Given the description of an element on the screen output the (x, y) to click on. 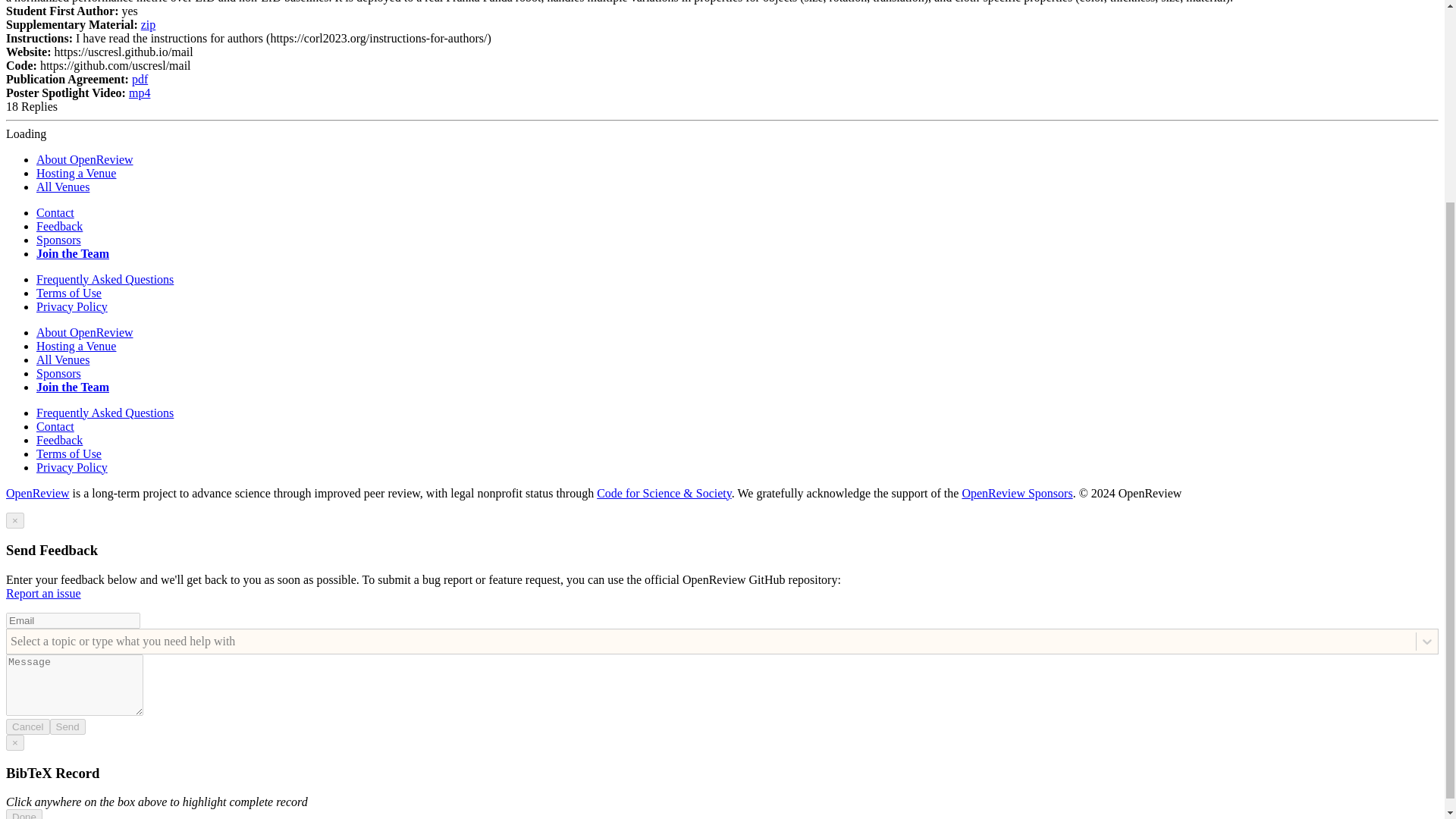
mp4 (139, 92)
pdf (140, 78)
Feedback (59, 226)
About OpenReview (84, 332)
Download Publication Agreement (140, 78)
zip (148, 24)
Contact (55, 212)
Contact (55, 426)
Sponsors (58, 373)
Terms of Use (68, 453)
Download Supplementary Material (148, 24)
OpenReview Sponsors (1015, 492)
All Venues (62, 359)
Send (67, 726)
Hosting a Venue (76, 345)
